Given the description of an element on the screen output the (x, y) to click on. 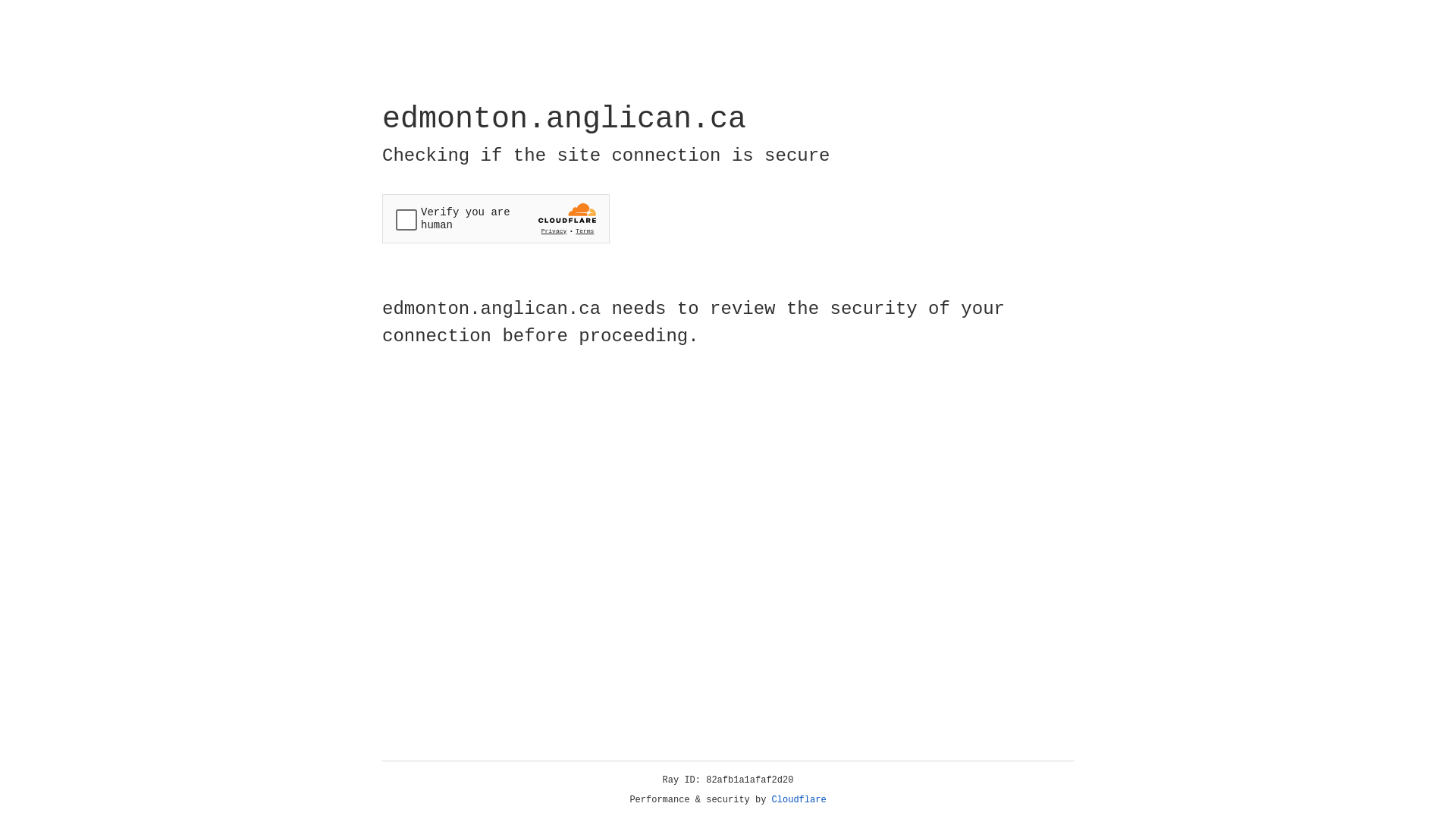
Widget containing a Cloudflare security challenge Element type: hover (495, 218)
Cloudflare Element type: text (798, 799)
